Given the description of an element on the screen output the (x, y) to click on. 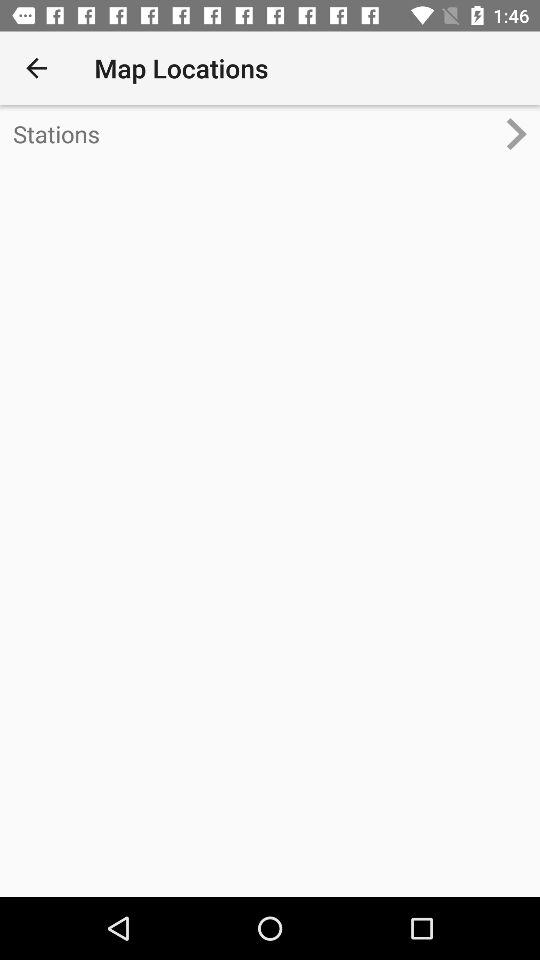
press the icon next to stations item (523, 133)
